Given the description of an element on the screen output the (x, y) to click on. 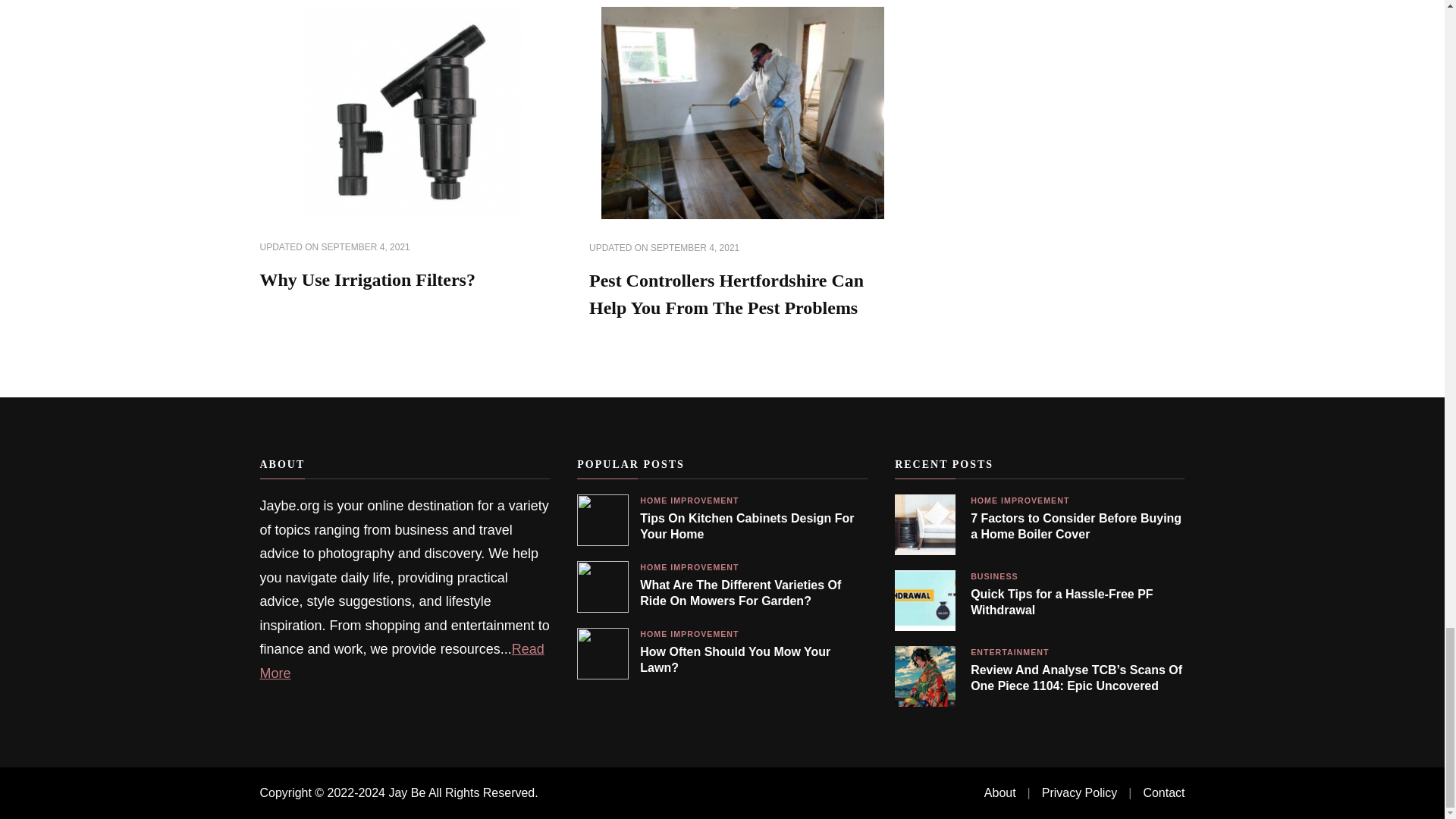
SEPTEMBER 4, 2021 (365, 247)
